Given the description of an element on the screen output the (x, y) to click on. 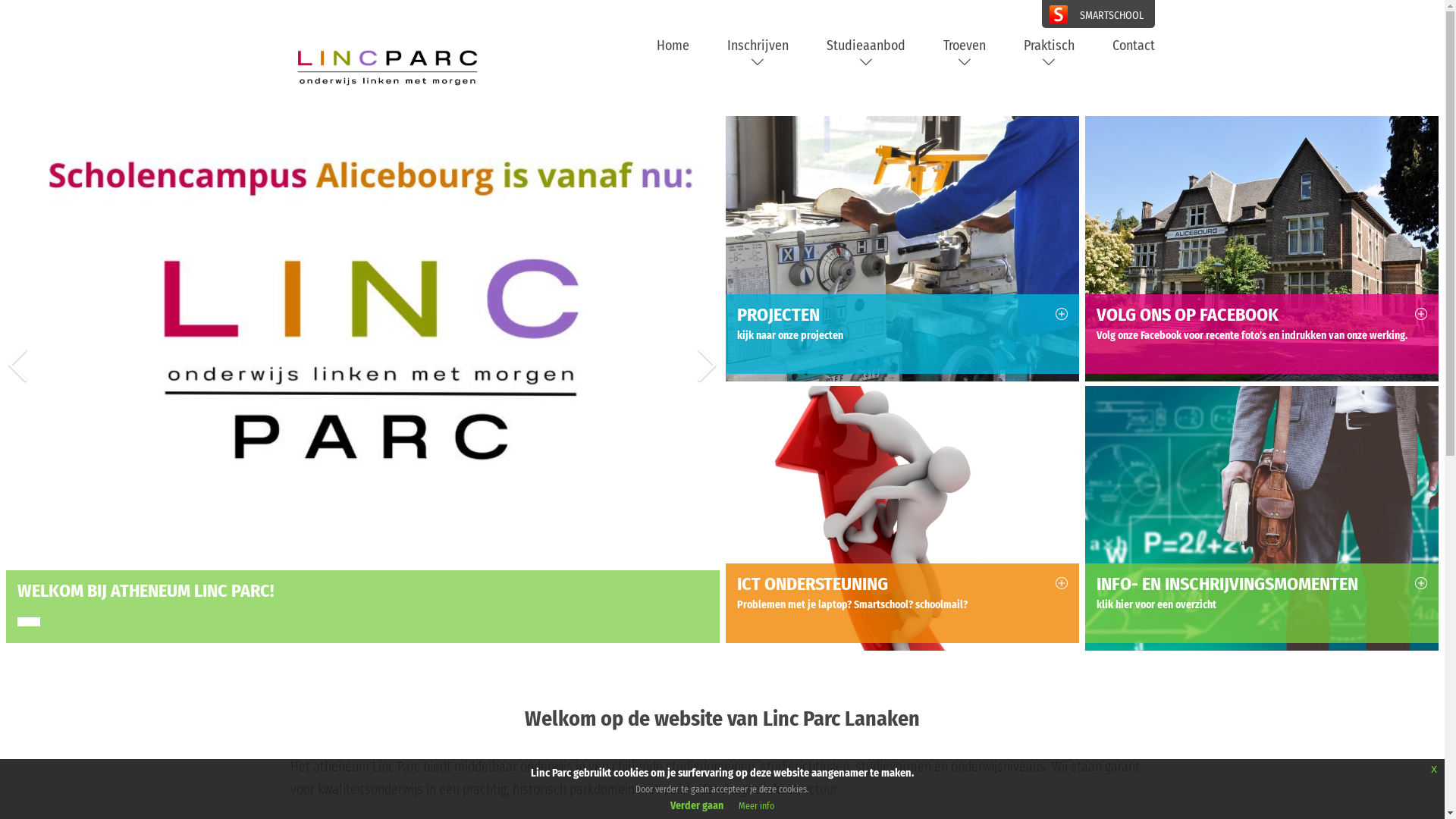
Inschrijven Element type: text (756, 53)
Contact Element type: text (1132, 45)
Praktisch Element type: text (1048, 53)
x Element type: text (1433, 768)
INFO- EN INSCHRIJVINGSMOMENTEN Element type: text (1261, 585)
VOLG ONS OP FACEBOOK Element type: text (1261, 316)
Problemen met je laptop? Smartschool? schoolmail? Element type: text (902, 604)
Vorige Element type: text (17, 383)
klik hier voor een overzicht Element type: text (1261, 604)
SMARTSCHOOL Element type: text (1097, 14)
Troeven Element type: text (964, 53)
kijk naar onze projecten Element type: text (902, 335)
Verder gaan Element type: text (696, 805)
PROJECTEN Element type: text (902, 316)
Meer info Element type: text (756, 805)
ICT ONDERSTEUNING Element type: text (902, 585)
Volgende Element type: text (707, 383)
Home Element type: text (672, 45)
Studieaanbod Element type: text (865, 53)
